Given the description of an element on the screen output the (x, y) to click on. 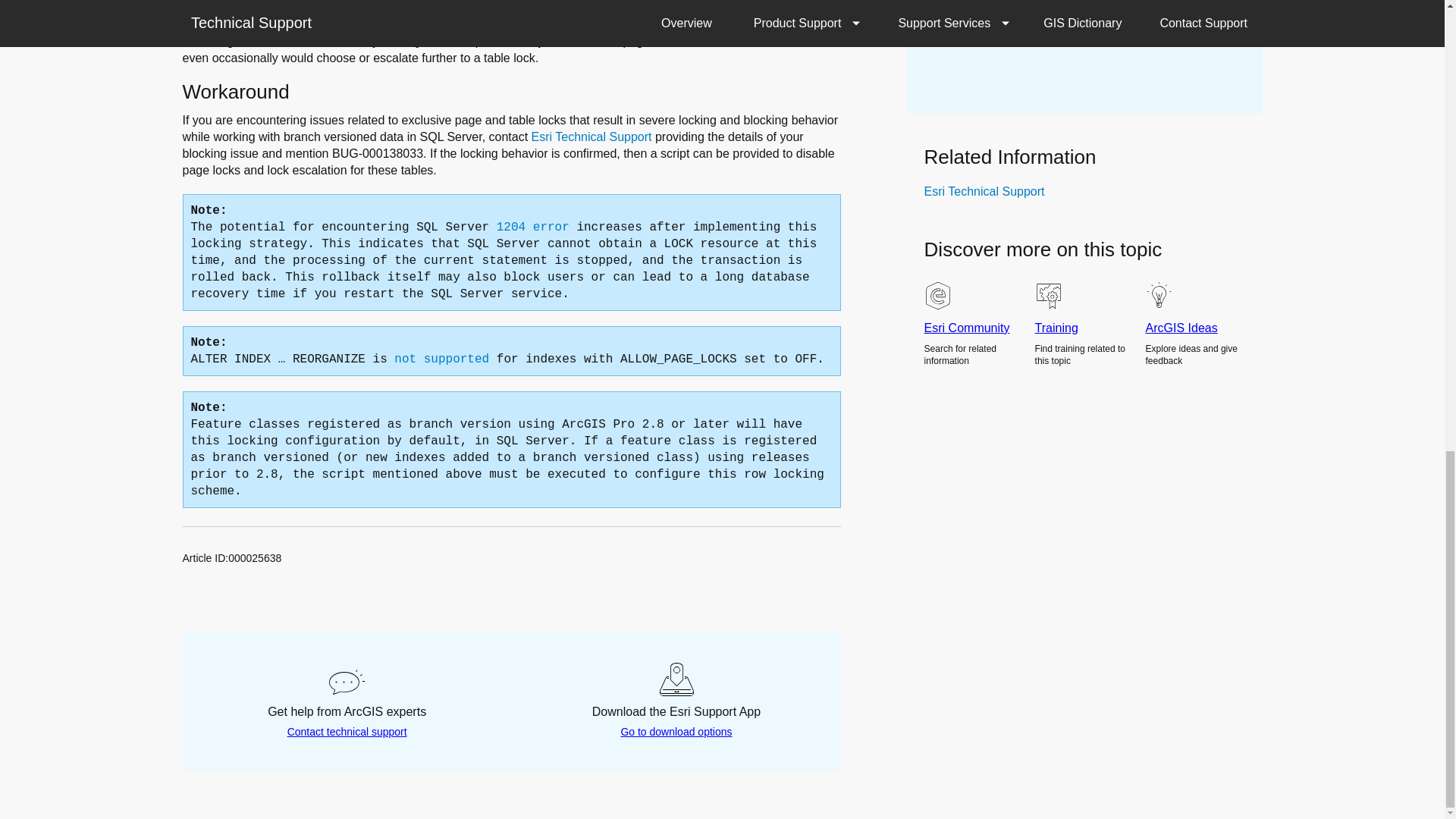
1204 error (532, 227)
not supported (441, 359)
Esri Technical Support (591, 136)
Esri Technical Support (984, 191)
